Given the description of an element on the screen output the (x, y) to click on. 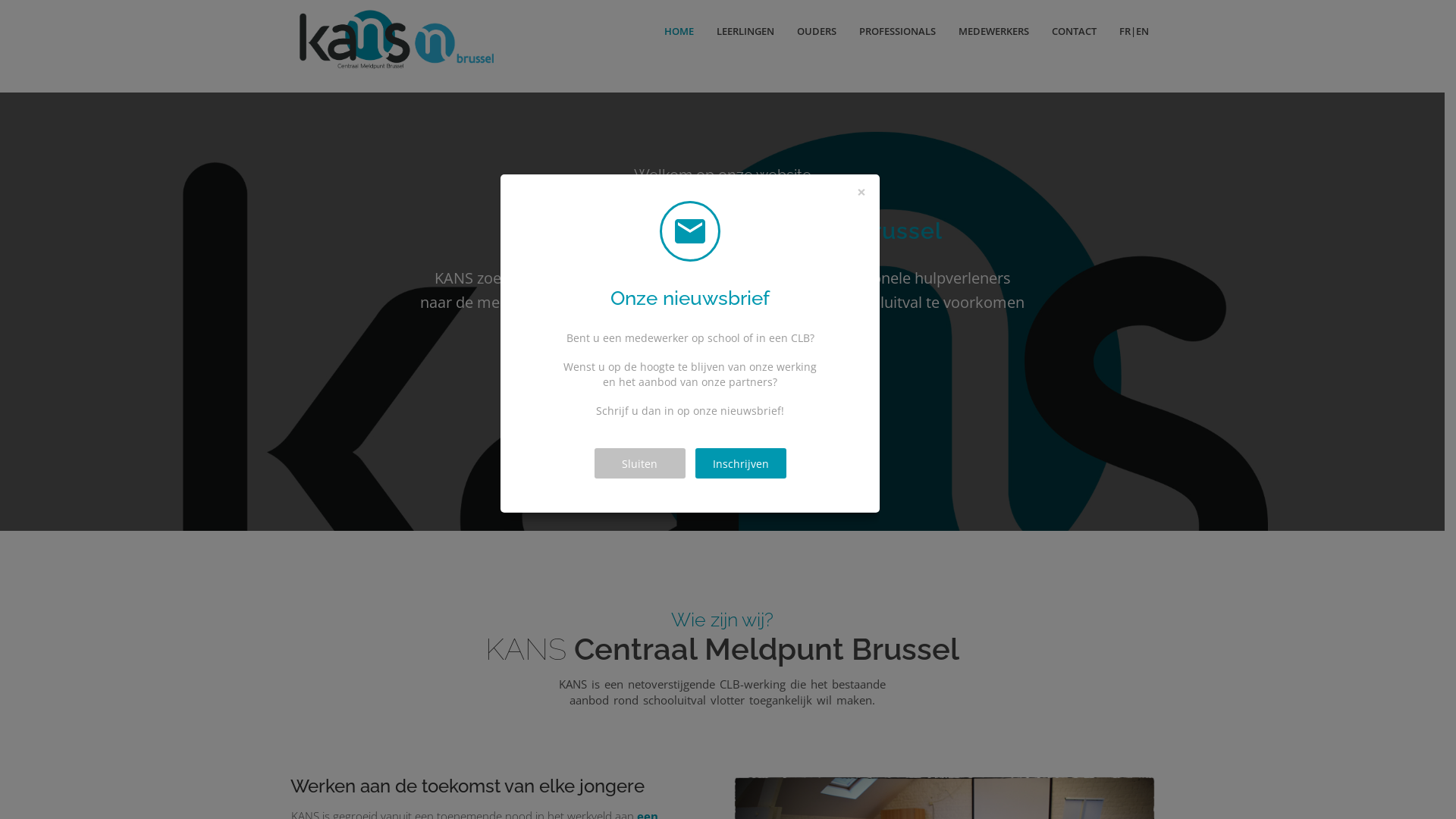
OUDERS Element type: text (816, 30)
Leerlingen Element type: text (599, 366)
Professionals Element type: text (821, 366)
Sluiten Element type: text (639, 463)
Inschrijven Element type: text (739, 463)
EN Element type: text (1147, 30)
PROFESSIONALS Element type: text (897, 30)
MEDEWERKERS Element type: text (993, 30)
HOME Element type: text (678, 30)
FR| Element type: text (1121, 30)
Ouders Element type: text (705, 366)
CONTACT Element type: text (1073, 30)
LEERLINGEN Element type: text (745, 30)
